Given the description of an element on the screen output the (x, y) to click on. 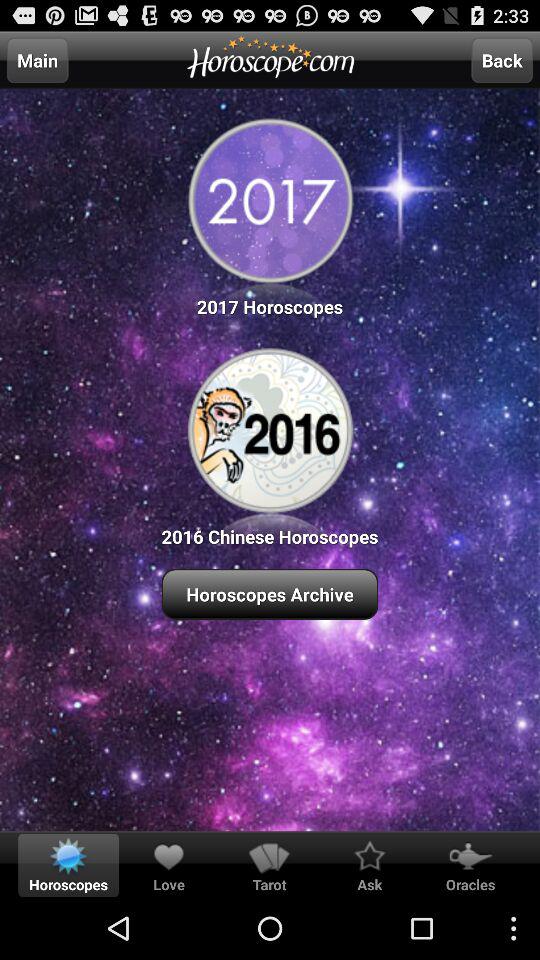
flip until 2017 horoscopes item (269, 214)
